Given the description of an element on the screen output the (x, y) to click on. 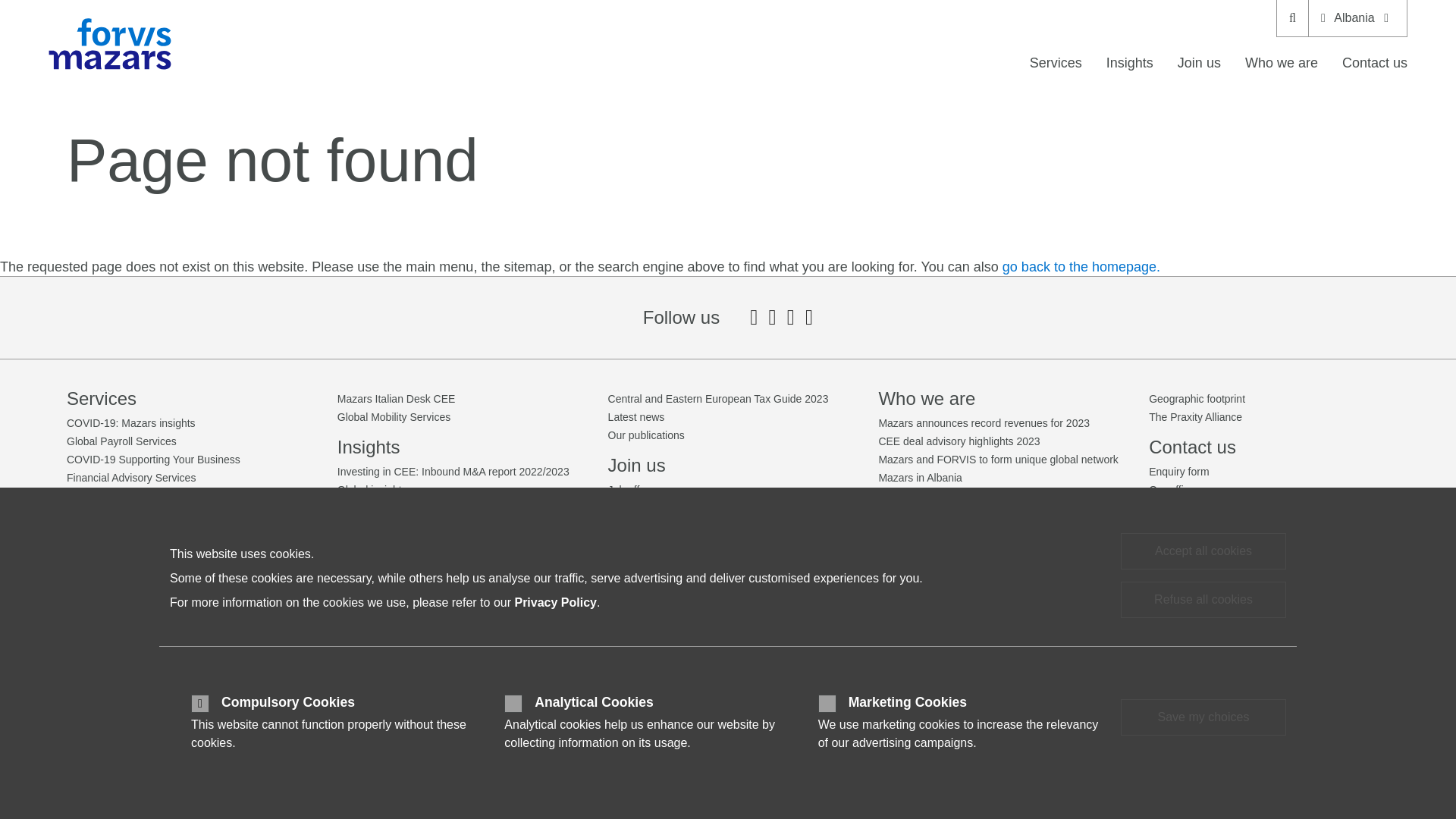
Albania (1357, 18)
